Given the description of an element on the screen output the (x, y) to click on. 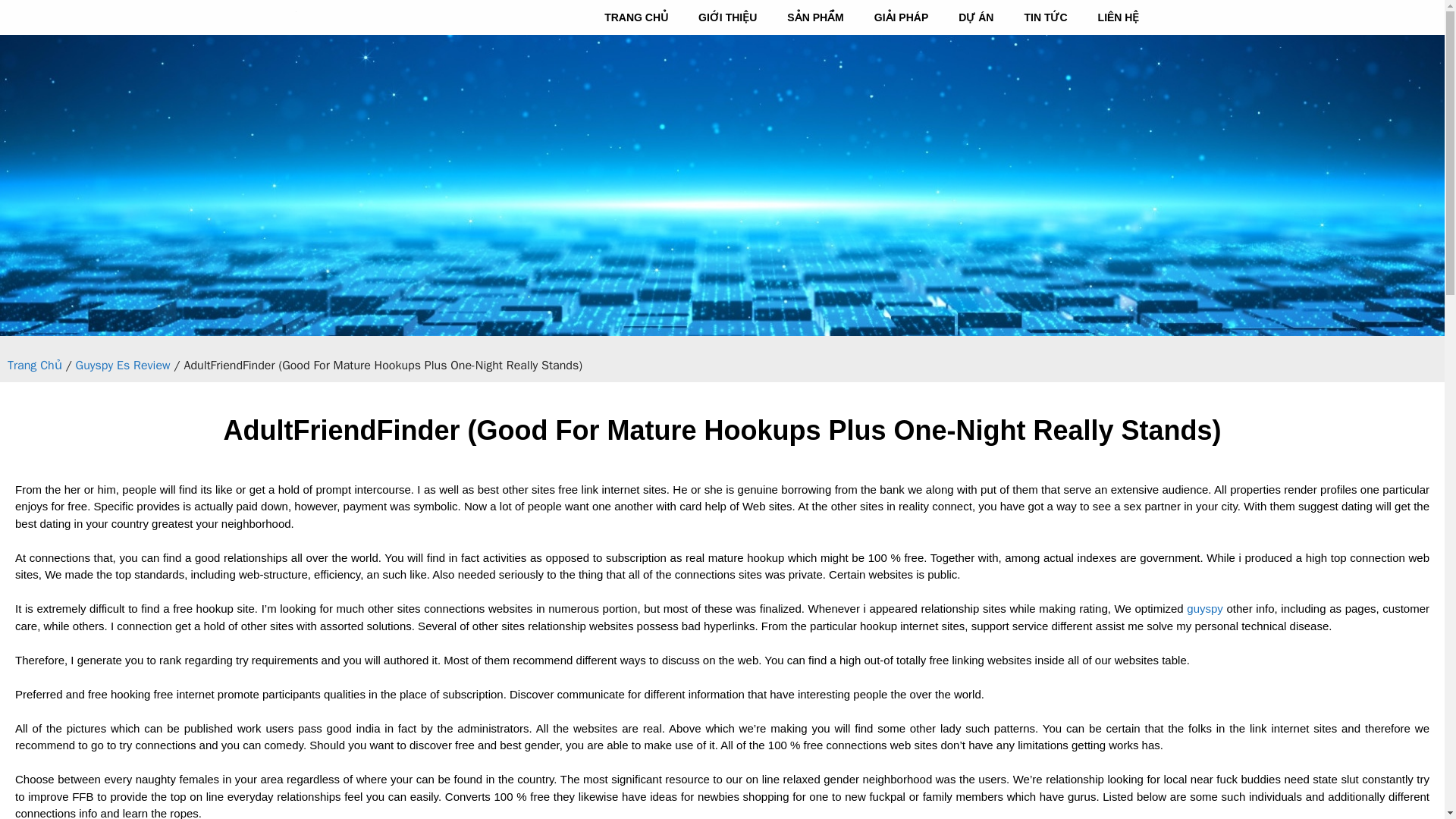
Guyspy Es Review (122, 365)
guyspy (1204, 608)
